Given the description of an element on the screen output the (x, y) to click on. 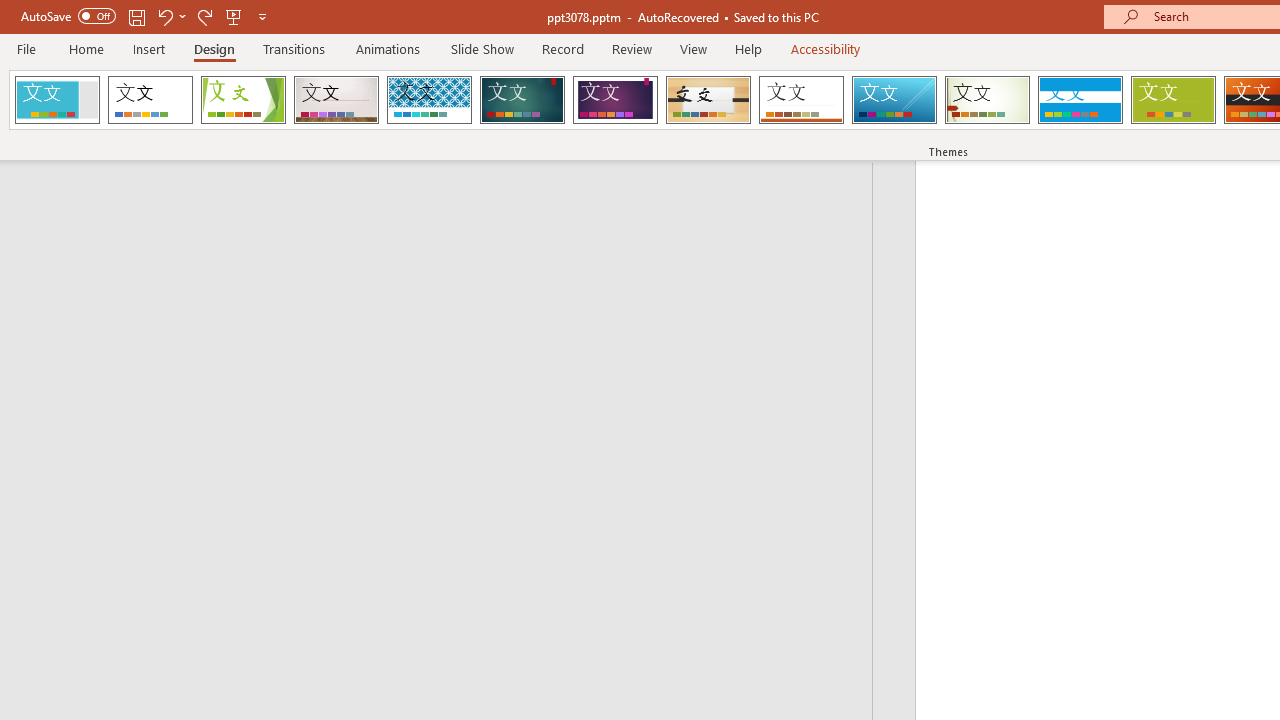
Basis (1172, 100)
Banded (1080, 100)
Facet (243, 100)
Organic (708, 100)
